Given the description of an element on the screen output the (x, y) to click on. 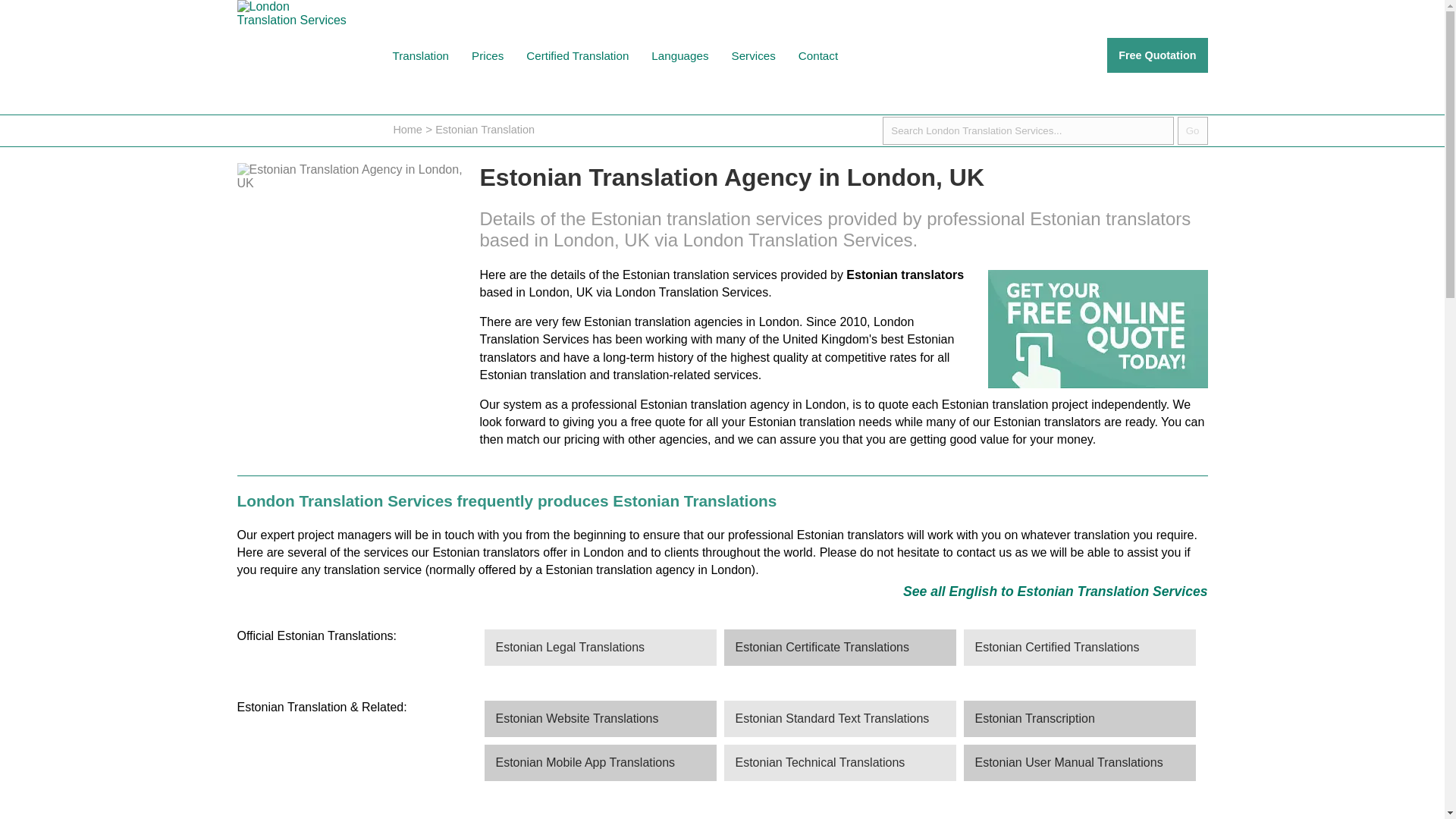
Estonian Certified Translations (1078, 647)
Services (753, 55)
Translation Services (753, 55)
Estonian Translation (484, 129)
Free Quotation (1156, 54)
English to Estonian Translation Services in London, UK (1055, 590)
Estonian Text Translations (839, 719)
Estonian Standard Text Translations (839, 719)
Go (1192, 130)
Contact London Translation Services (817, 55)
